Given the description of an element on the screen output the (x, y) to click on. 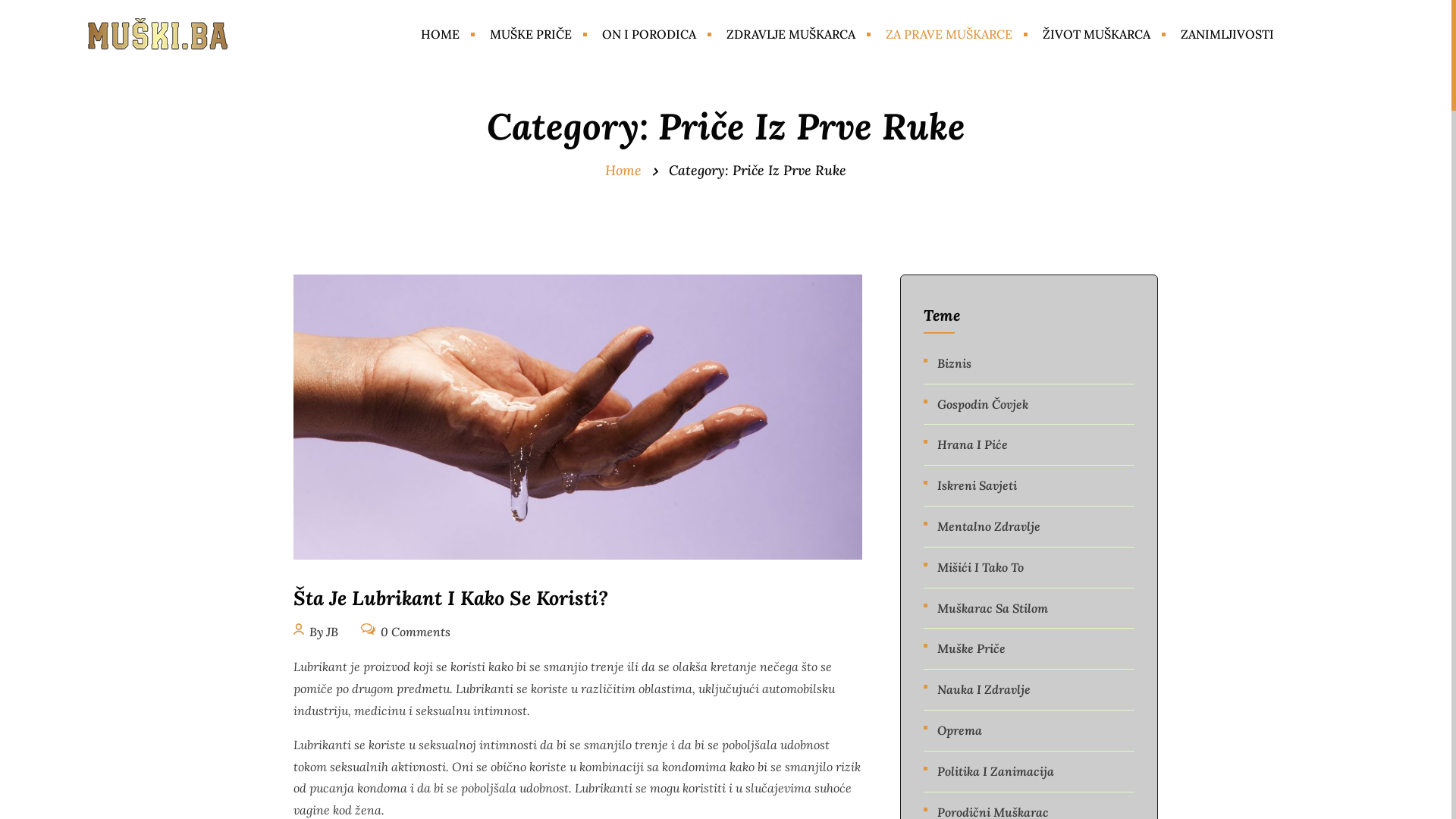
0 Comments Element type: text (405, 630)
Politika I Zanimacija Element type: text (995, 771)
Mentalno Zdravlje Element type: text (988, 526)
Oprema Element type: text (959, 730)
By JB Element type: text (315, 630)
Nauka I Zdravlje Element type: text (983, 689)
HOME Element type: text (439, 34)
ZANIMLJIVOSTI Element type: text (1226, 34)
ON I PORODICA Element type: text (649, 34)
Biznis Element type: text (954, 363)
Iskreni Savjeti Element type: text (976, 485)
Home Element type: text (623, 169)
